Given the description of an element on the screen output the (x, y) to click on. 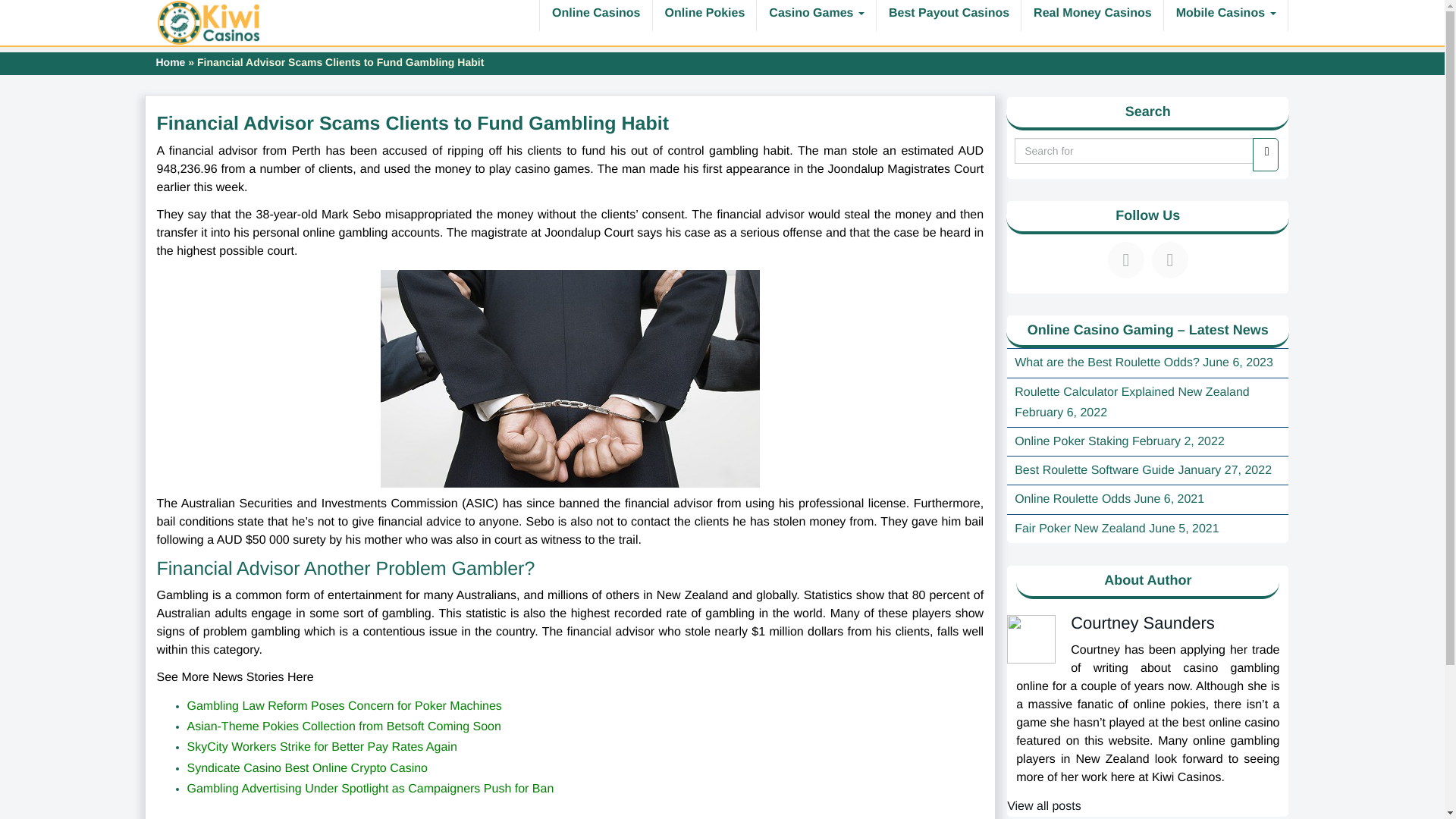
Courtney Saunders (1142, 622)
SkyCity Workers Strike for Better Pay Rates Again (321, 747)
Online Casinos (595, 15)
Real Money Casinos (1092, 15)
Online Casino New Zealand (208, 22)
Gambling Law Reform Poses Concern for Poker Machines  (345, 706)
Home (170, 61)
View all posts (1044, 806)
Syndicate Casino Best Online Crypto Casino (307, 768)
